Given the description of an element on the screen output the (x, y) to click on. 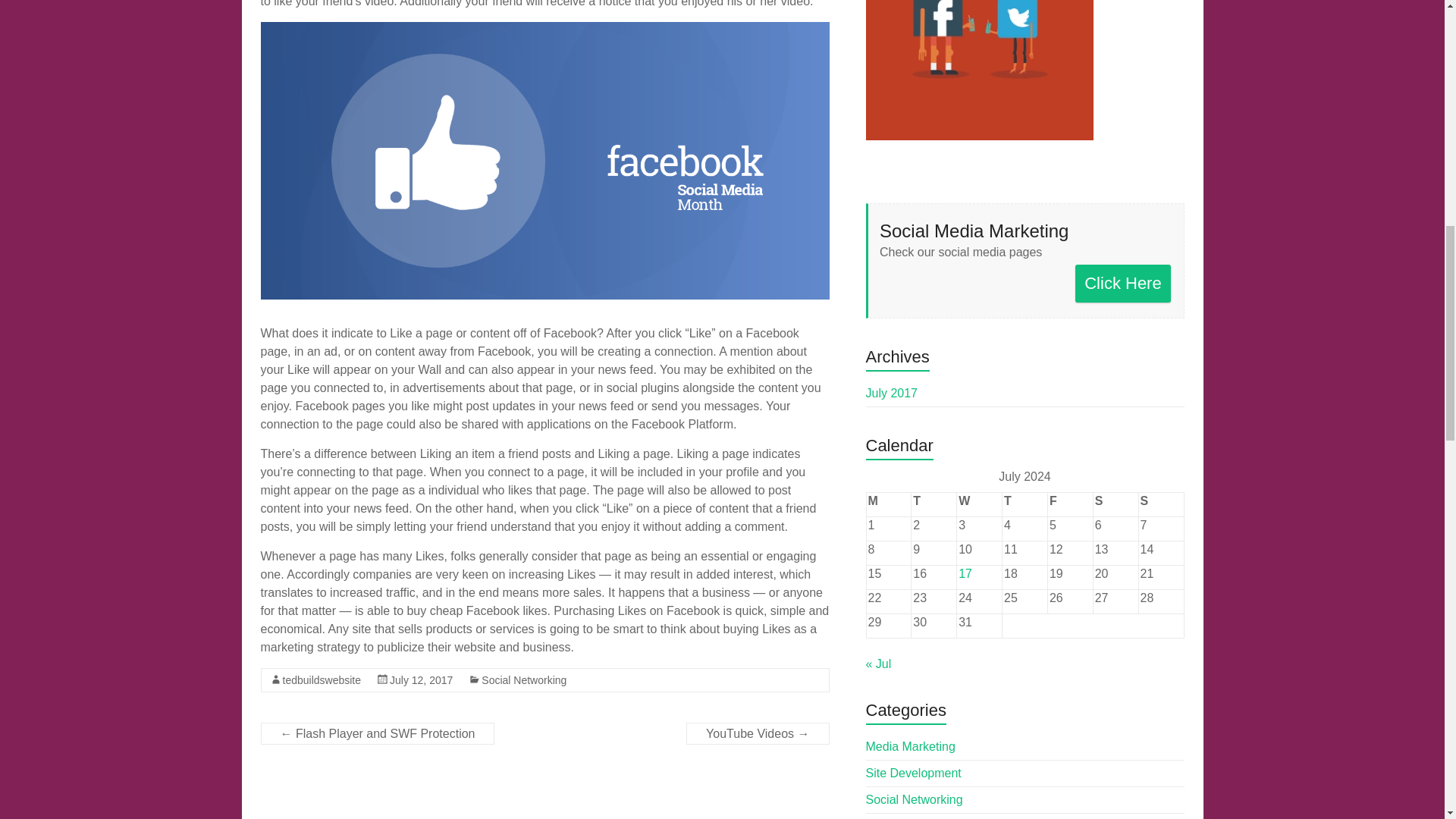
Monday (888, 504)
12:24 pm (421, 680)
Social Networking (523, 680)
tedbuildswebsite (321, 680)
Wednesday (979, 504)
Saturday (1115, 504)
Site Development (913, 772)
Click Here (1123, 283)
Sunday (1160, 504)
Media Marketing (910, 746)
July 12, 2017 (421, 680)
Click Here (1123, 283)
Friday (1069, 504)
Thursday (1025, 504)
Social Networking (914, 799)
